Given the description of an element on the screen output the (x, y) to click on. 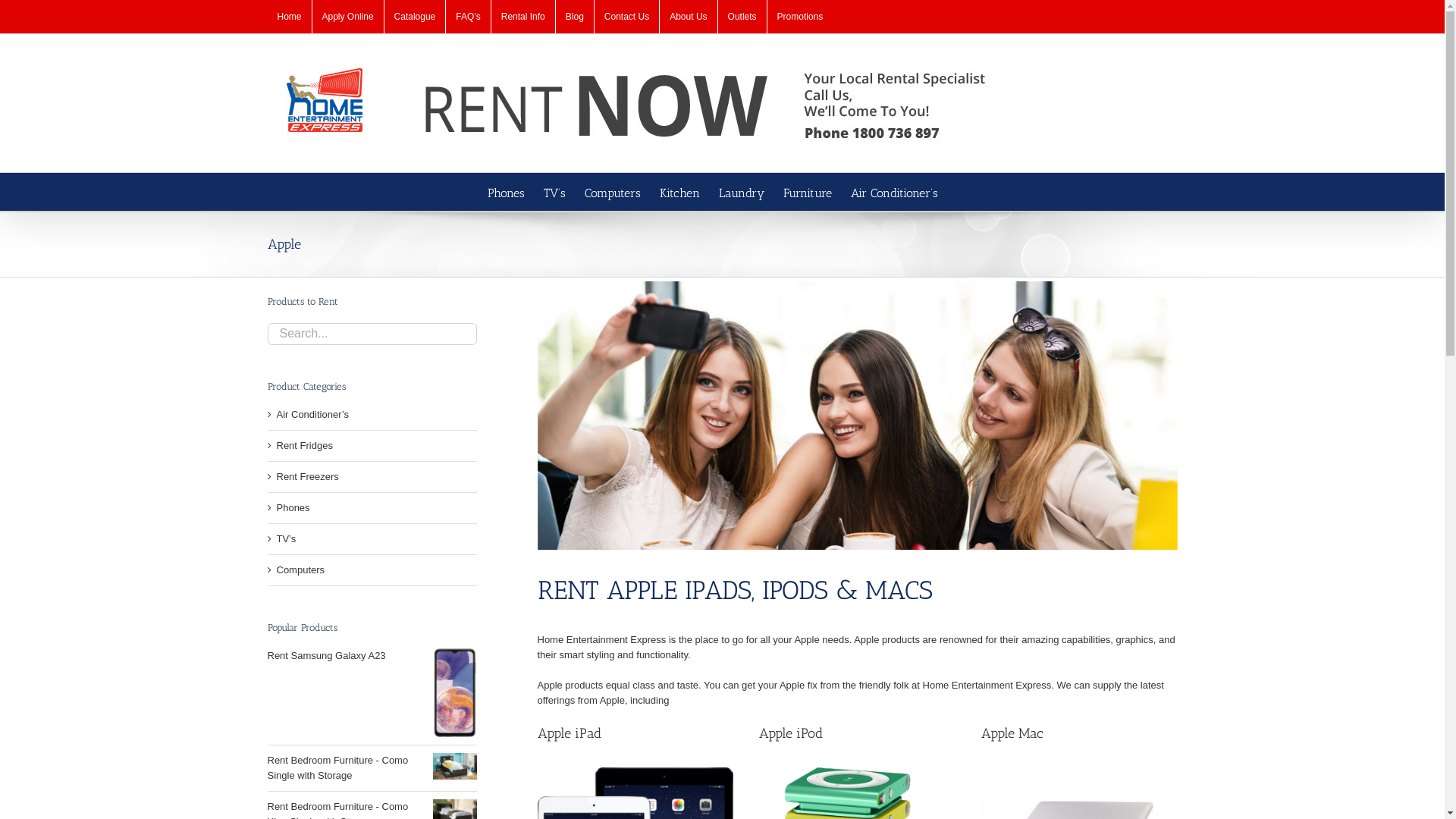
Contact Us Element type: text (626, 16)
Promotions Element type: text (800, 16)
Rent Freezers Element type: text (307, 476)
Outlets Element type: text (742, 16)
Laundry Element type: text (741, 191)
Apply Online Element type: text (347, 16)
About Us Element type: text (687, 16)
Rent Samsung Galaxy A23 Element type: text (325, 655)
Computers Element type: text (300, 569)
Phones Element type: text (505, 191)
Rent Bedroom Furniture - Como Single with Storage Element type: text (336, 767)
Home Element type: text (288, 16)
Furniture Element type: text (807, 191)
Catalogue Element type: text (414, 16)
Rental Info Element type: text (523, 16)
Kitchen Element type: text (679, 191)
Computers Element type: text (612, 191)
Blog Element type: text (574, 16)
Phones Element type: text (292, 507)
Rent Fridges Element type: text (304, 445)
